Given the description of an element on the screen output the (x, y) to click on. 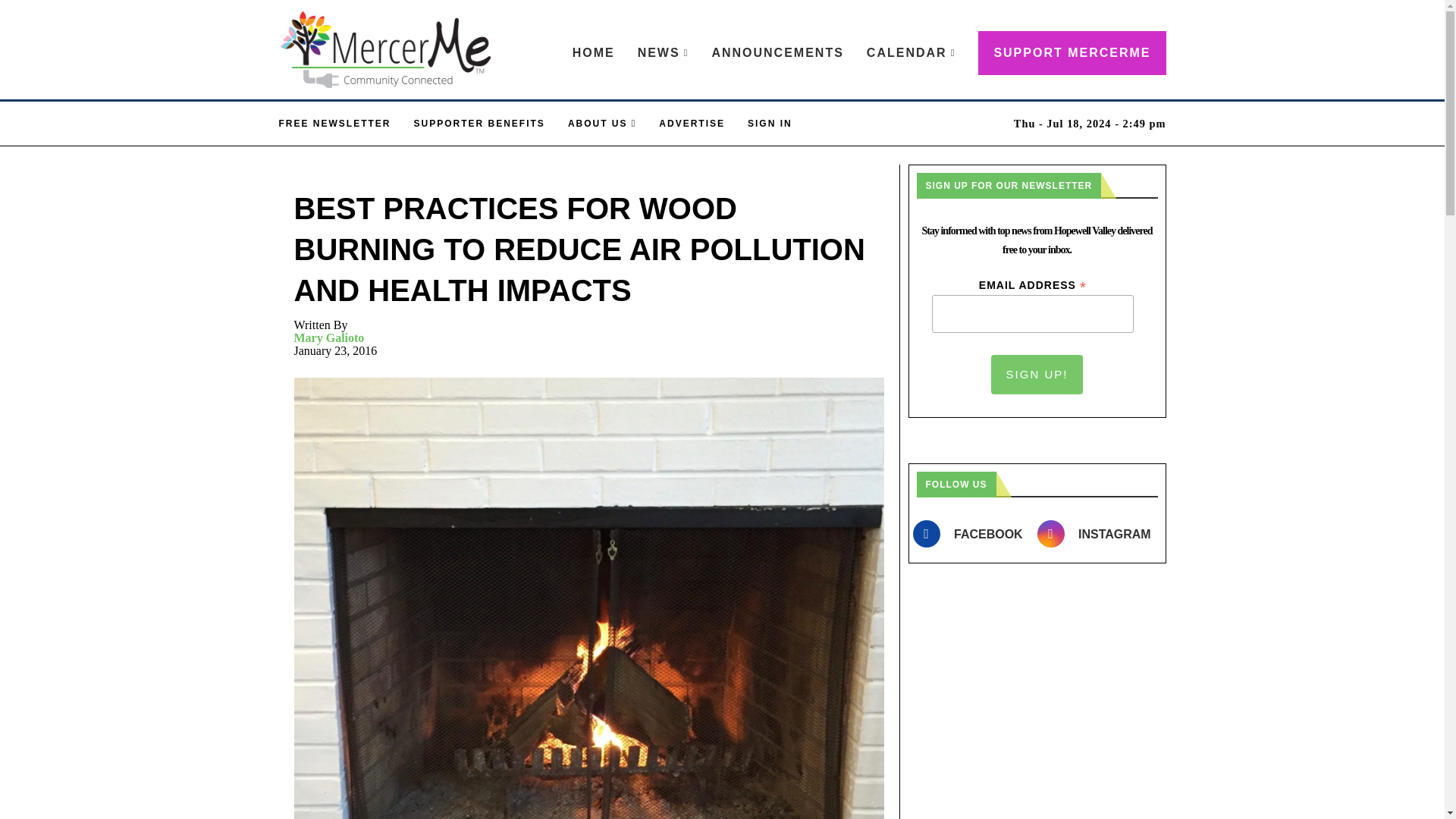
SUPPORT MERCERME (1072, 53)
SUPPORTER BENEFITS (478, 123)
SIGN IN (770, 123)
ABOUT US (601, 123)
Sign Up! (1037, 373)
CALENDAR (911, 53)
HOME (593, 53)
Support MercerMe (1072, 53)
ADVERTISE (692, 123)
NEWS (662, 53)
ANNOUNCEMENTS (777, 53)
FREE NEWSLETTER (335, 123)
